Given the description of an element on the screen output the (x, y) to click on. 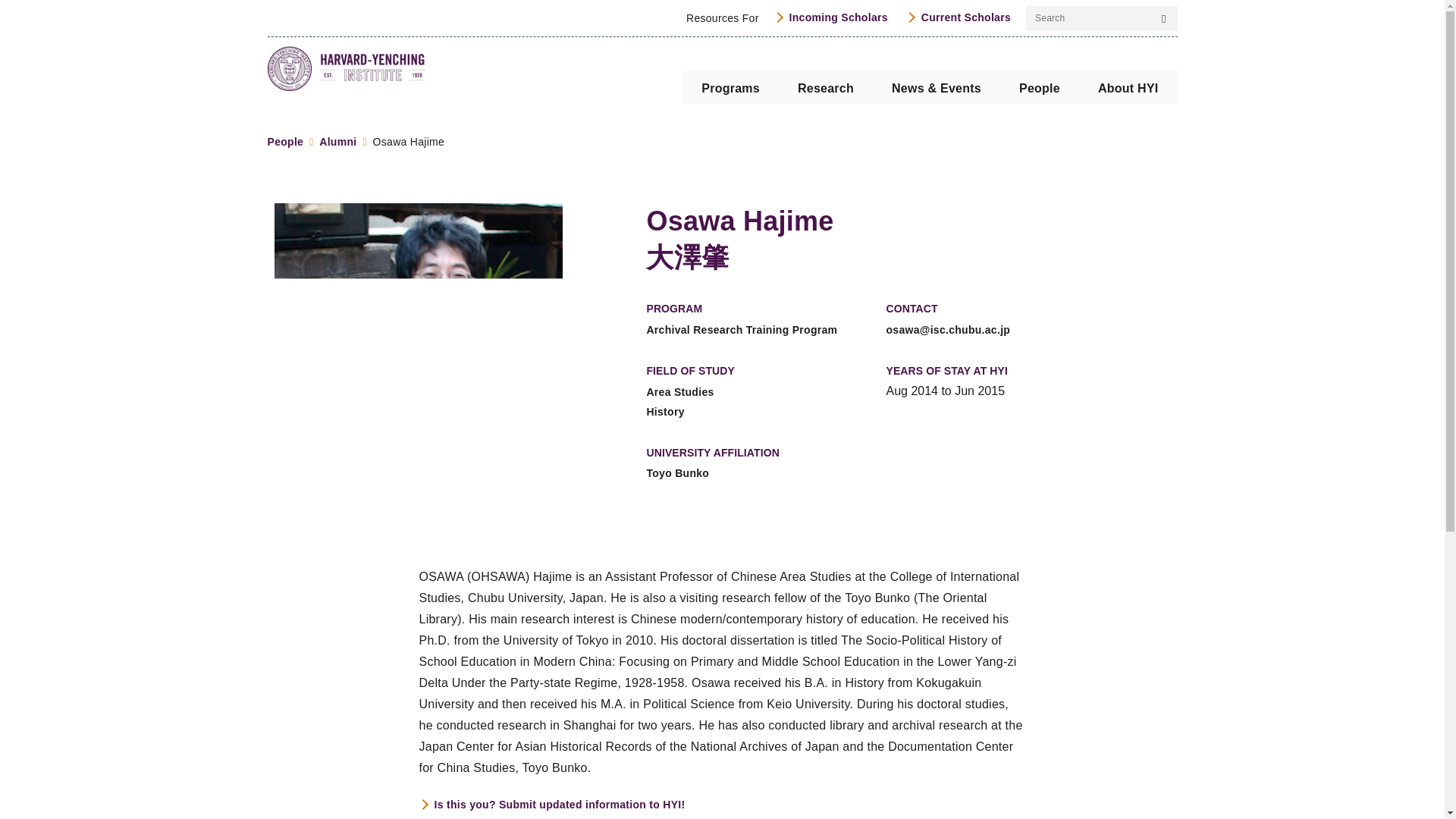
Research (825, 87)
About HYI (1127, 87)
Incoming Scholars (831, 17)
Current Scholars (957, 17)
Programs (730, 87)
People (1039, 87)
